Given the description of an element on the screen output the (x, y) to click on. 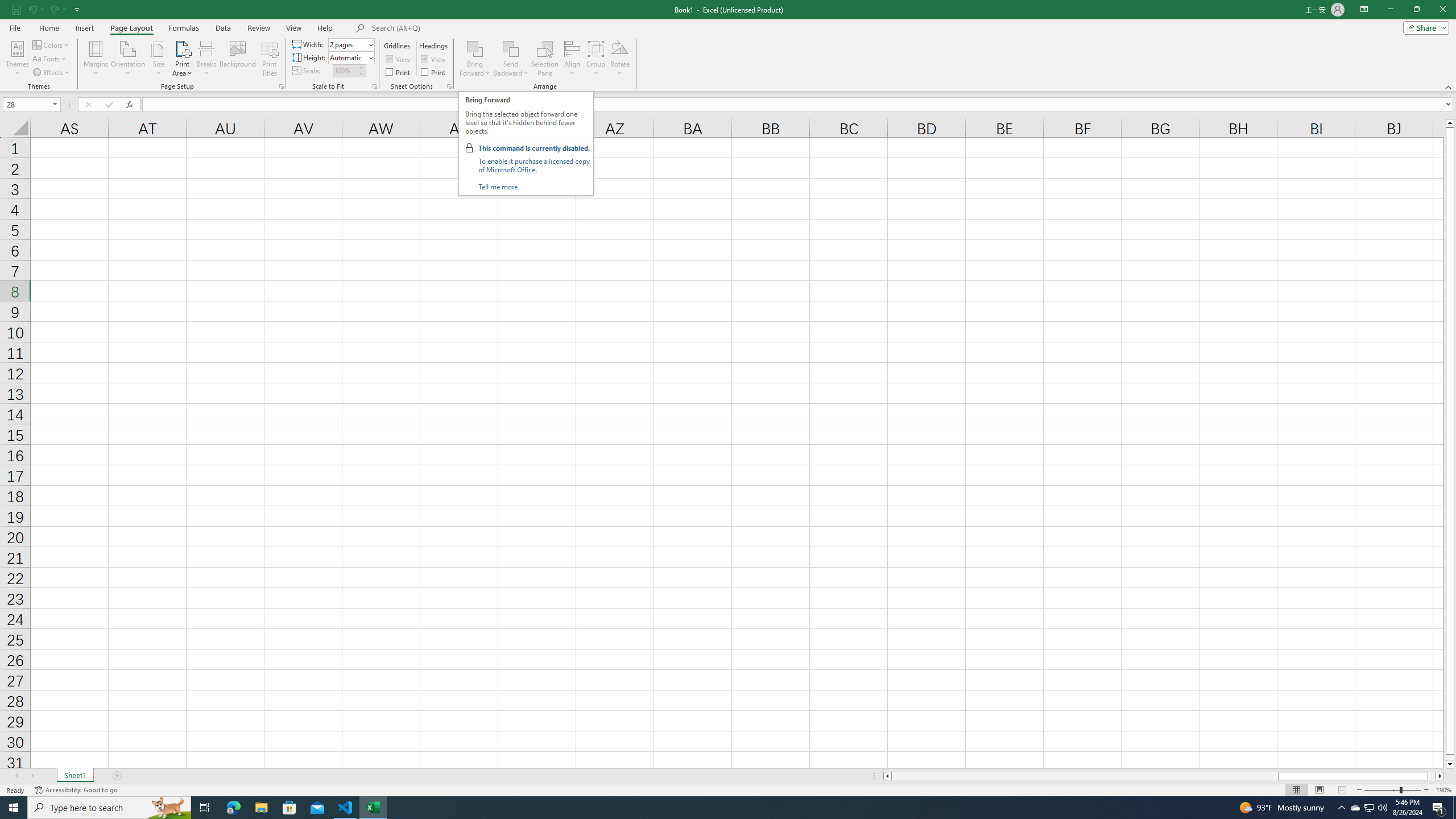
Size (158, 58)
Less (360, 73)
Height (350, 56)
